Given the description of an element on the screen output the (x, y) to click on. 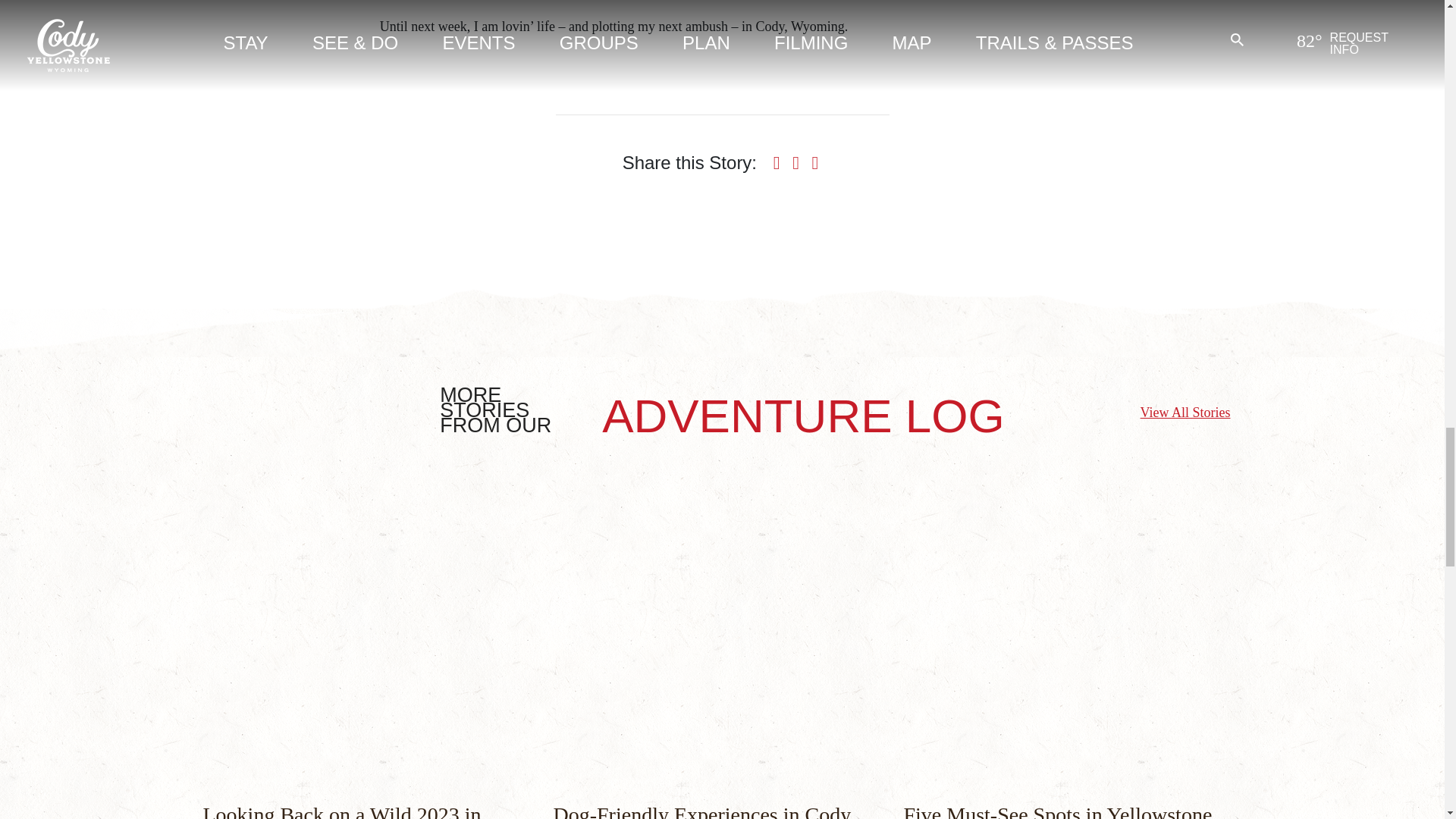
Looking Back on a Wild 2023 in Cody Yellowstone (342, 811)
Five Must-See Spots in Yellowstone (1058, 811)
View All Stories (1185, 412)
Dog-Friendly Experiences in Cody Yellowstone (702, 811)
